Given the description of an element on the screen output the (x, y) to click on. 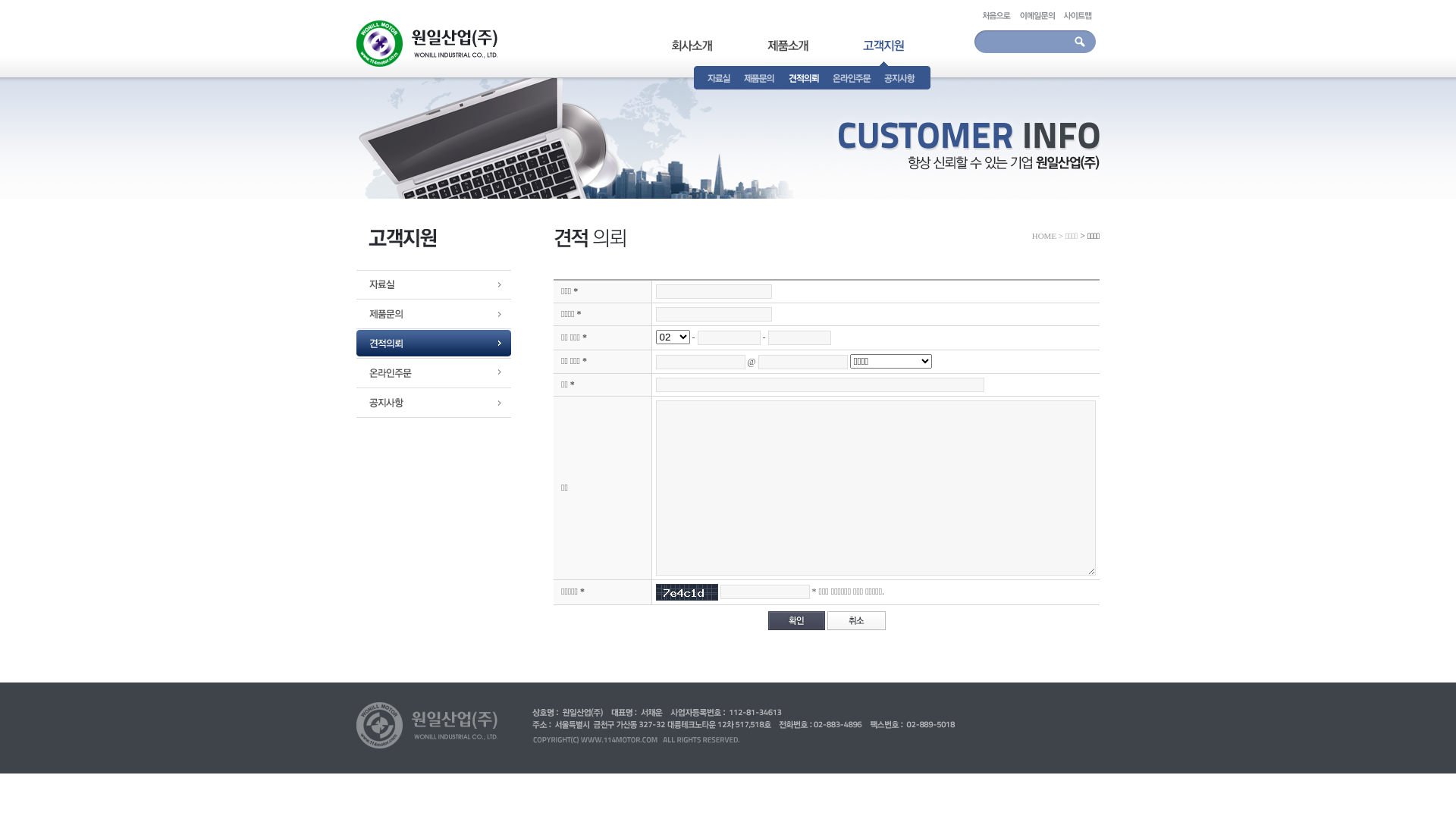
HOME > Element type: text (1047, 235)
